Given the description of an element on the screen output the (x, y) to click on. 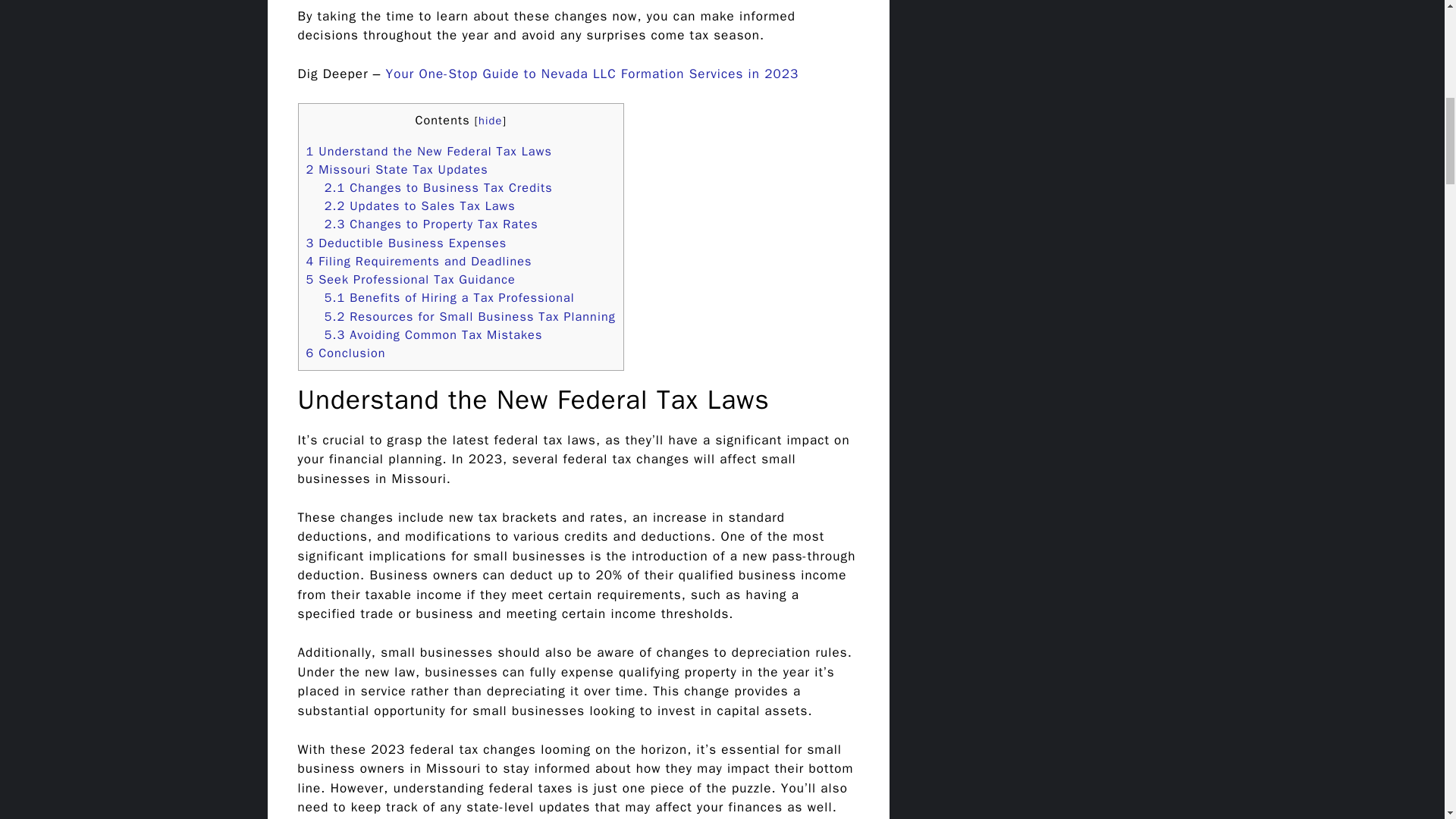
5.3 Avoiding Common Tax Mistakes (433, 334)
2 Missouri State Tax Updates (396, 169)
4 Filing Requirements and Deadlines (418, 261)
5.1 Benefits of Hiring a Tax Professional (449, 297)
2.3 Changes to Property Tax Rates (431, 223)
hide (490, 120)
5.2 Resources for Small Business Tax Planning (469, 316)
2.2 Updates to Sales Tax Laws (419, 205)
Your One-Stop Guide to Nevada LLC Formation Services in 2023 (592, 73)
2.1 Changes to Business Tax Credits (438, 187)
6 Conclusion (345, 352)
3 Deductible Business Expenses (405, 242)
1 Understand the New Federal Tax Laws (428, 150)
5 Seek Professional Tax Guidance (410, 279)
